Given the description of an element on the screen output the (x, y) to click on. 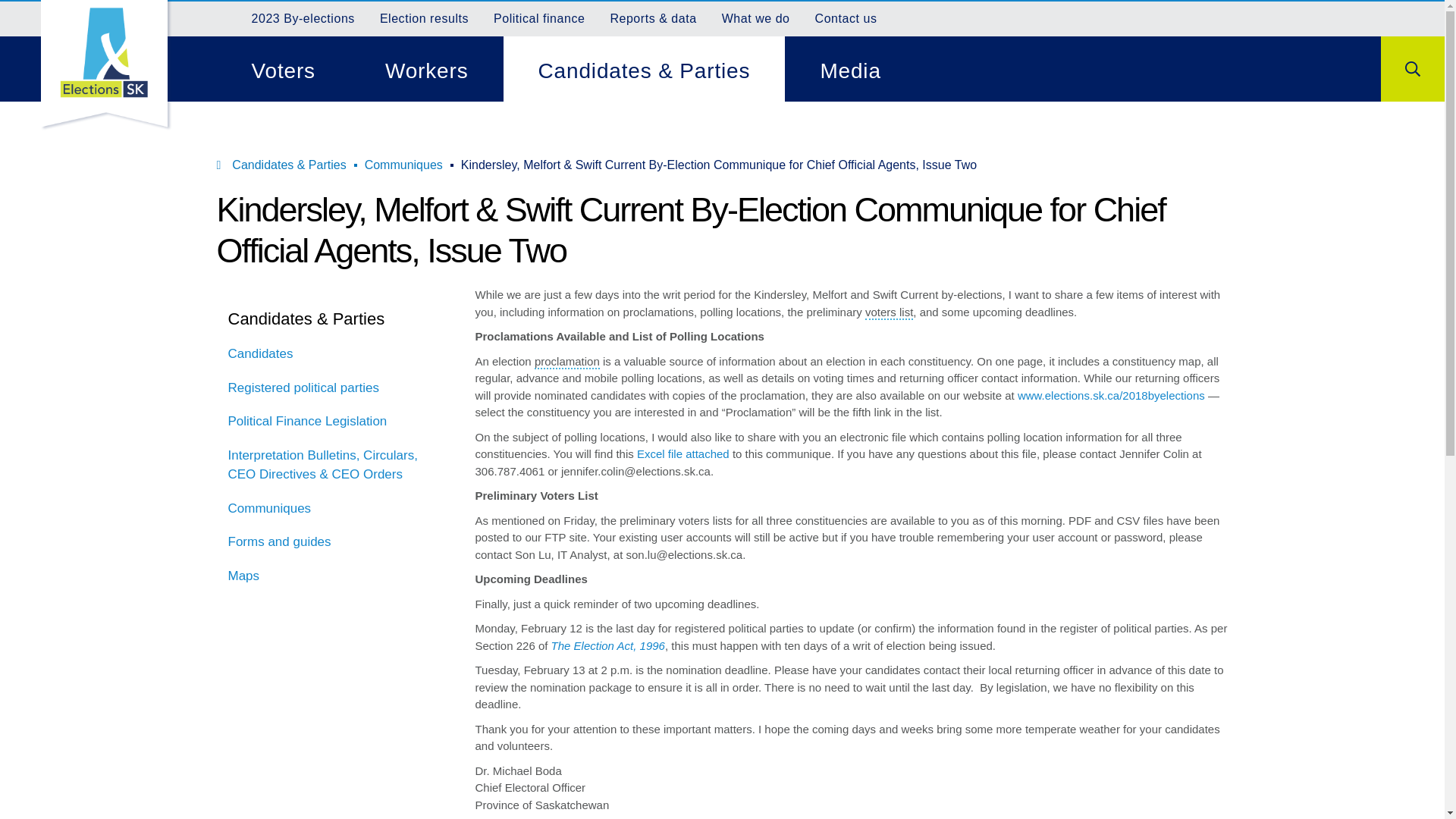
Political finance (539, 18)
Registered political parties (334, 388)
Forms and guides (334, 541)
Political finance (539, 18)
Election results (424, 18)
What we do (756, 18)
Voters (283, 68)
2023 By-elections (303, 18)
Candidates (334, 353)
Political Finance Legislation (334, 421)
Communiques (403, 164)
Maps (334, 575)
Communiques (334, 508)
Voters (283, 68)
Contact us (846, 18)
